Given the description of an element on the screen output the (x, y) to click on. 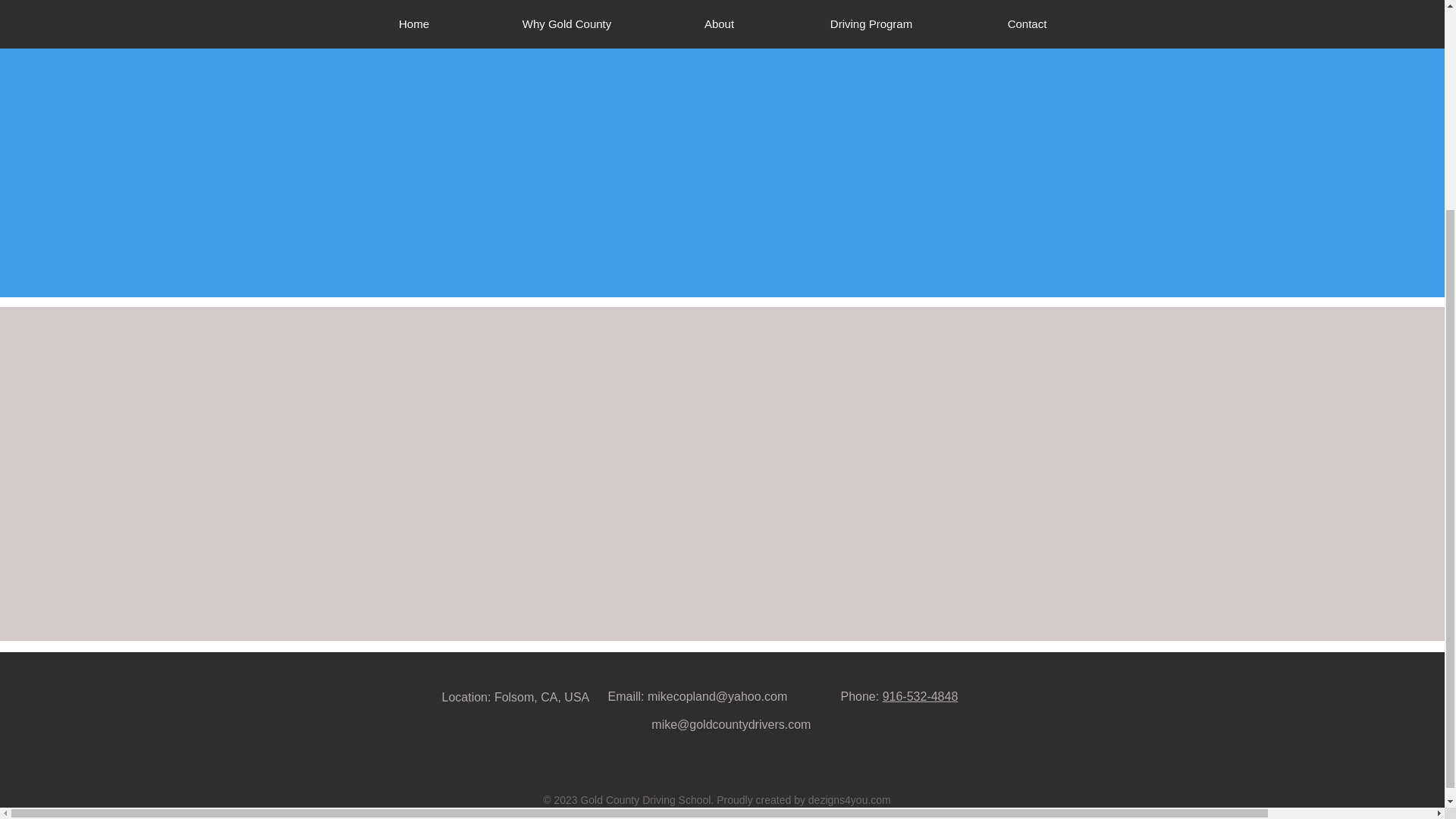
.com (878, 799)
916-532-4848 (920, 696)
